Given the description of an element on the screen output the (x, y) to click on. 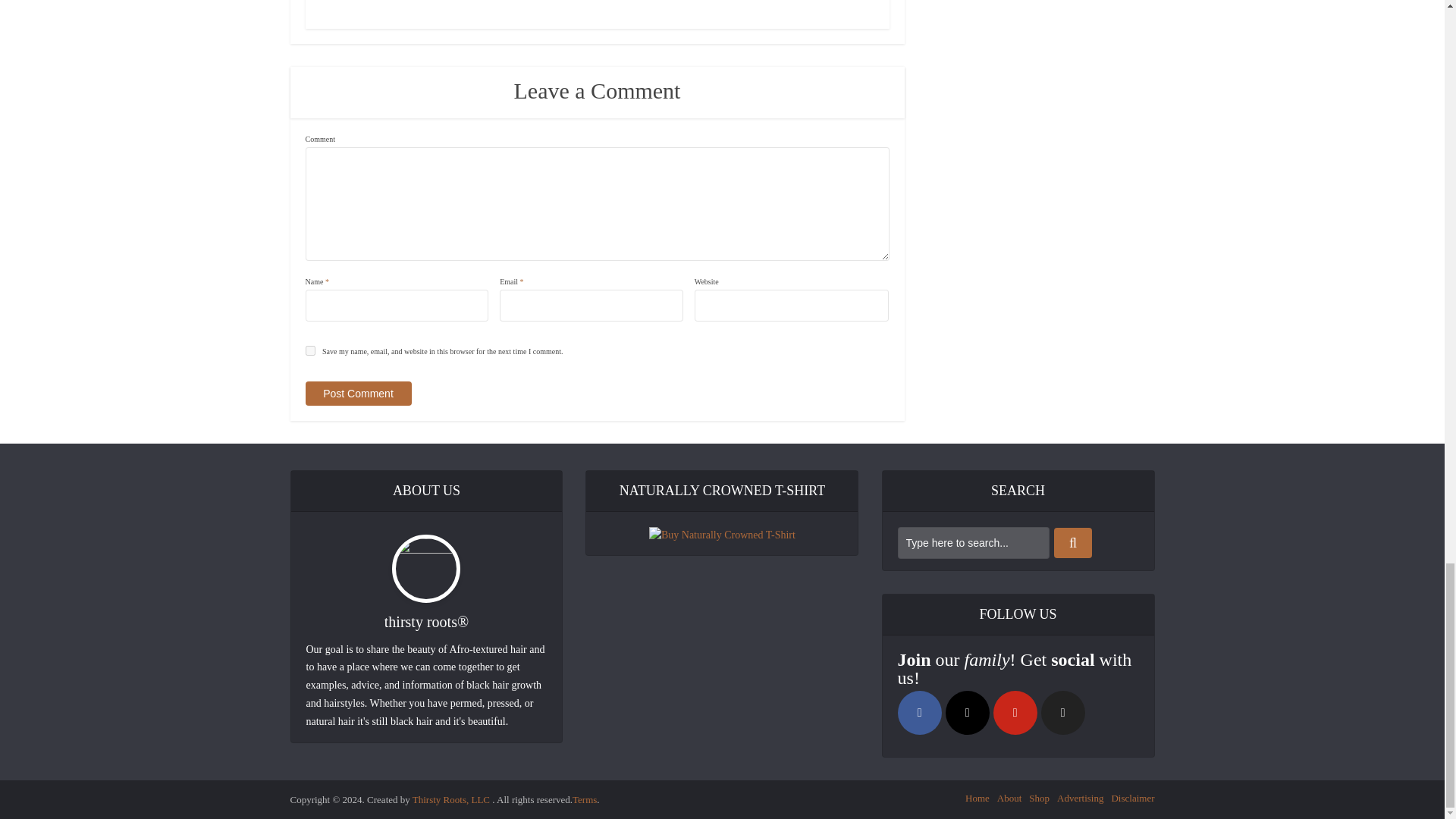
Type here to search... (973, 542)
Facebook (920, 712)
Post Comment (357, 393)
Type here to search... (973, 542)
yes (309, 350)
